Given the description of an element on the screen output the (x, y) to click on. 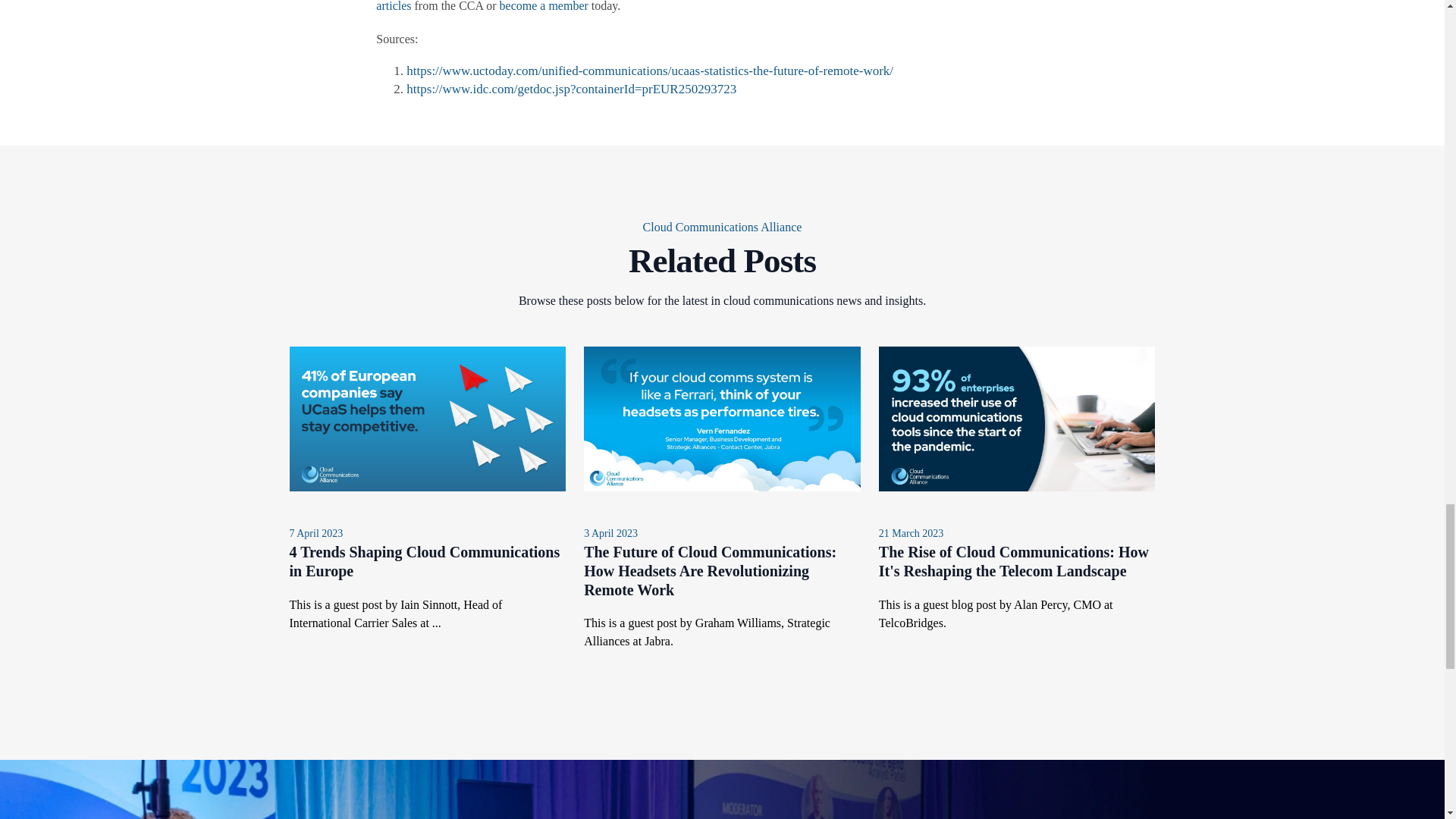
become a member (543, 6)
4 Trends Shaping Cloud Communications in Europe (424, 561)
check out these articles (723, 6)
4 Trends Shaping Cloud Communications in Europe (424, 561)
4 Trends Shaping Cloud Communications in Europe (427, 486)
